Given the description of an element on the screen output the (x, y) to click on. 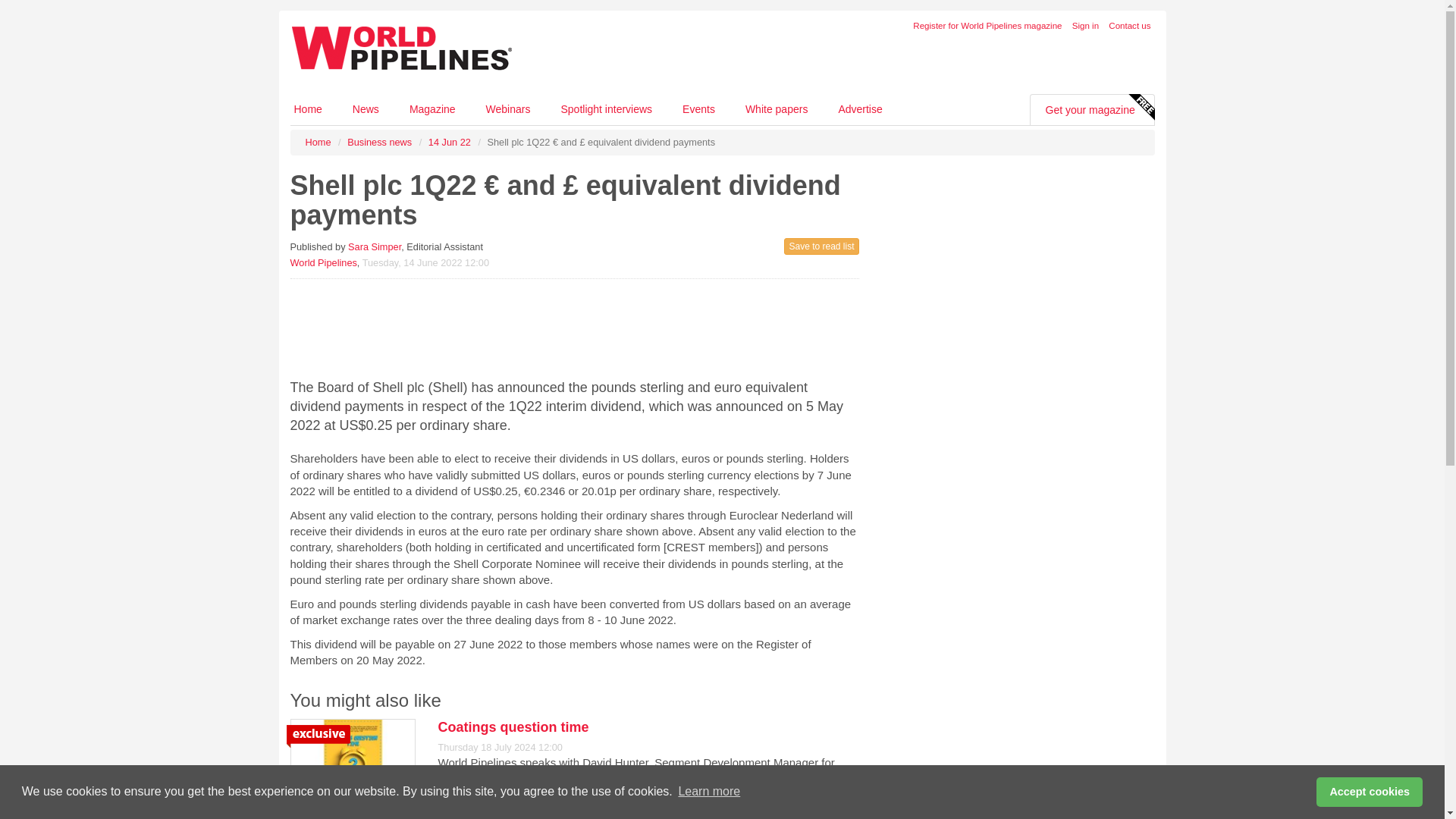
Contact us (1129, 25)
Contact us (1129, 25)
World Pipelines (322, 262)
3rd party ad content (1035, 716)
Sara Simper (374, 246)
Save to read list (821, 246)
3rd party ad content (574, 325)
Events (698, 109)
Magazine (432, 109)
Coatings question time (513, 726)
Business news (379, 142)
White papers (776, 109)
Register for World Pipelines magazine (986, 25)
Get your magazine (1091, 110)
Sign in (1085, 25)
